Given the description of an element on the screen output the (x, y) to click on. 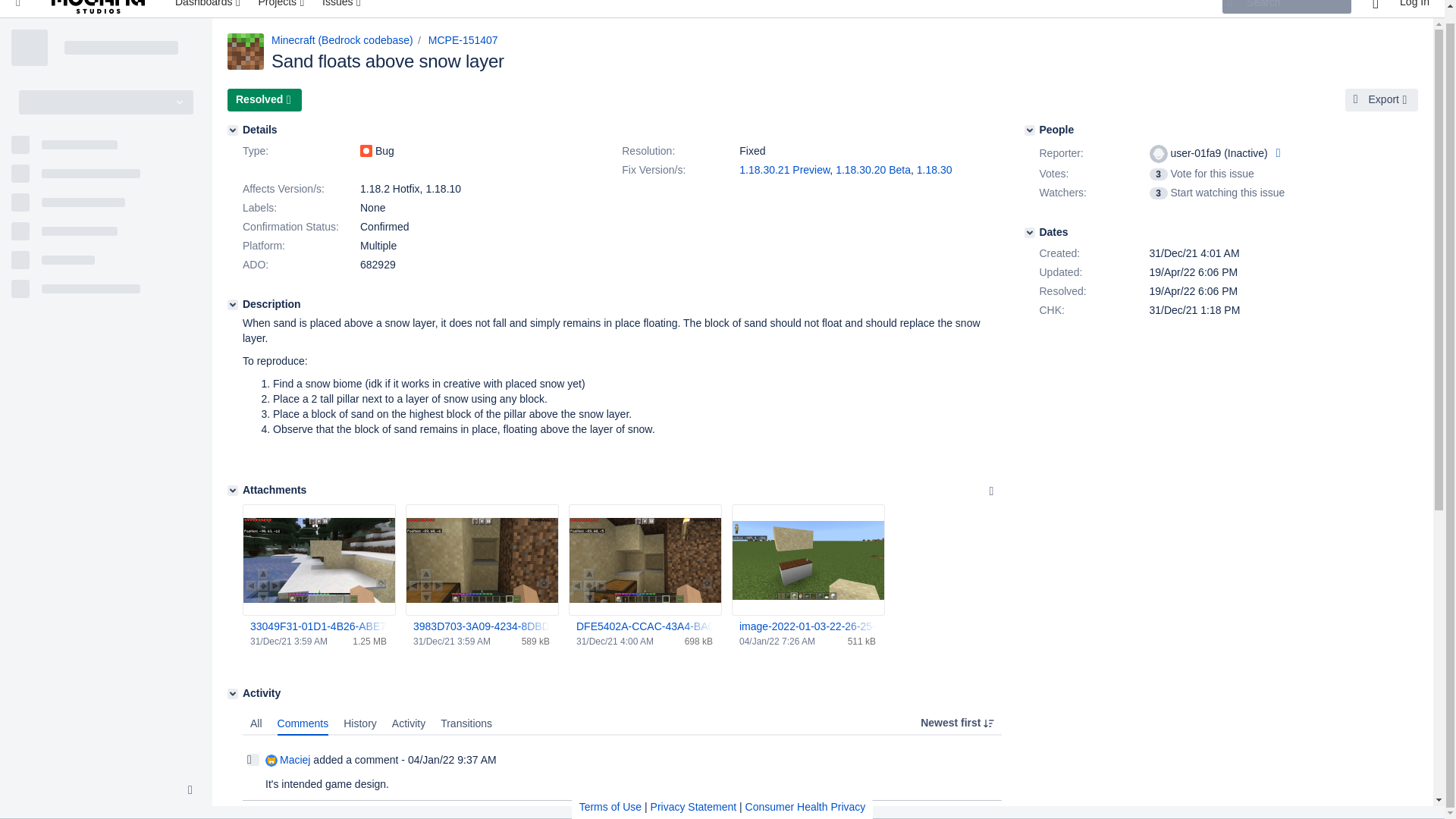
1.18.30.21 Preview 1.18.30.21 Preview (784, 169)
1.18.30 1.18.30 All Platforms (934, 169)
Search for issues and view recent issues (342, 8)
Projects (282, 8)
Help (1374, 8)
View recent projects and browse a list of projects (282, 8)
Linked Applications (18, 8)
Export (1381, 99)
Terms of Use (610, 793)
